Given the description of an element on the screen output the (x, y) to click on. 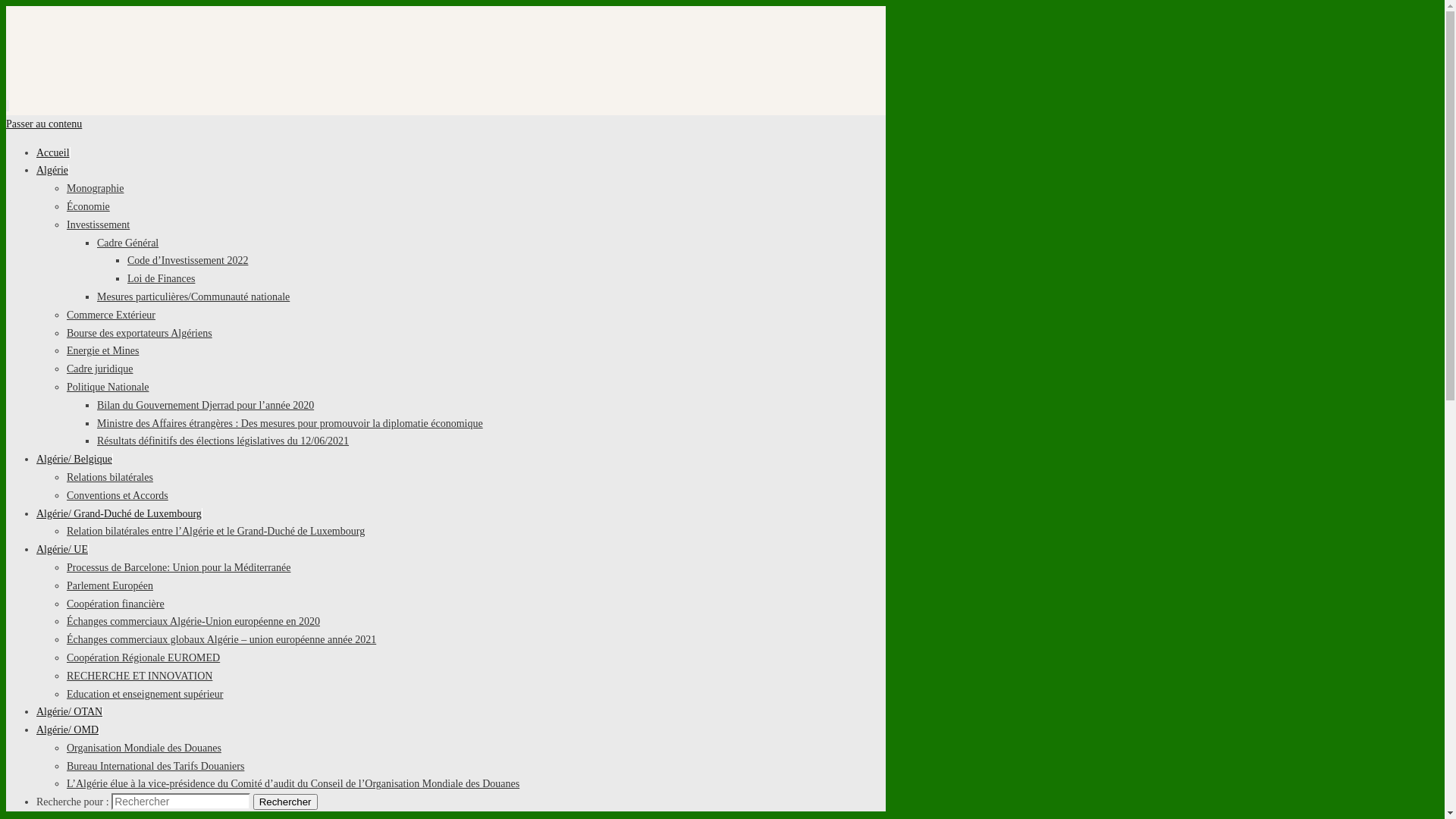
RECHERCHE ET INNOVATION Element type: text (139, 675)
Politique Nationale Element type: text (107, 386)
Cadre juridique Element type: text (99, 368)
Conventions et Accords Element type: text (117, 495)
  Element type: text (7, 105)
Energie et Mines Element type: text (102, 350)
Organisation Mondiale des Douanes Element type: text (143, 747)
Accueil Element type: text (52, 152)
Monographie Element type: text (94, 188)
Passer au contenu Element type: text (43, 123)
Rechercher Element type: text (285, 801)
Loi de Finances Element type: text (160, 278)
Investissement Element type: text (97, 224)
Bureau International des Tarifs Douaniers Element type: text (155, 765)
